Given the description of an element on the screen output the (x, y) to click on. 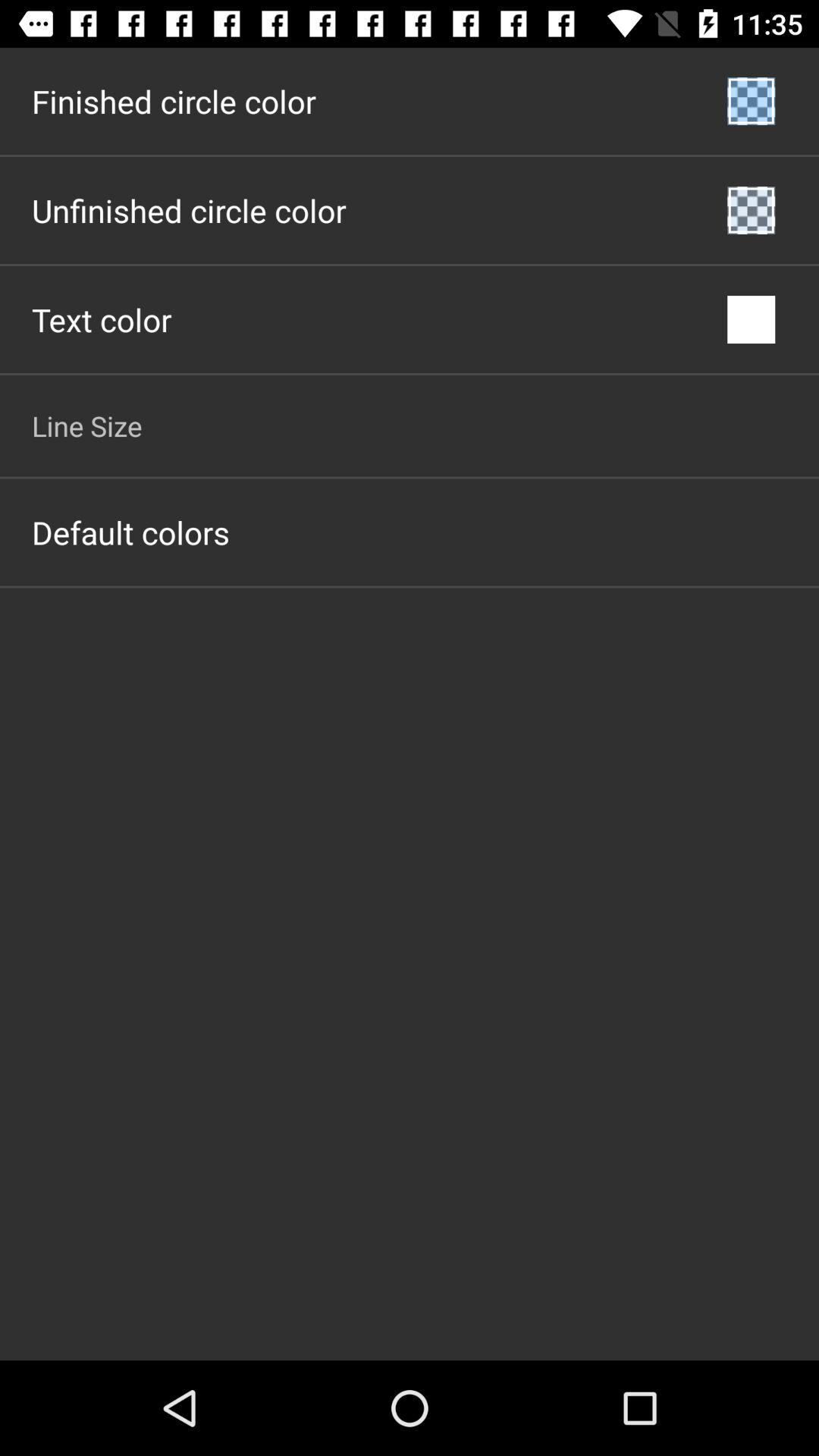
swipe until the text color (101, 319)
